Given the description of an element on the screen output the (x, y) to click on. 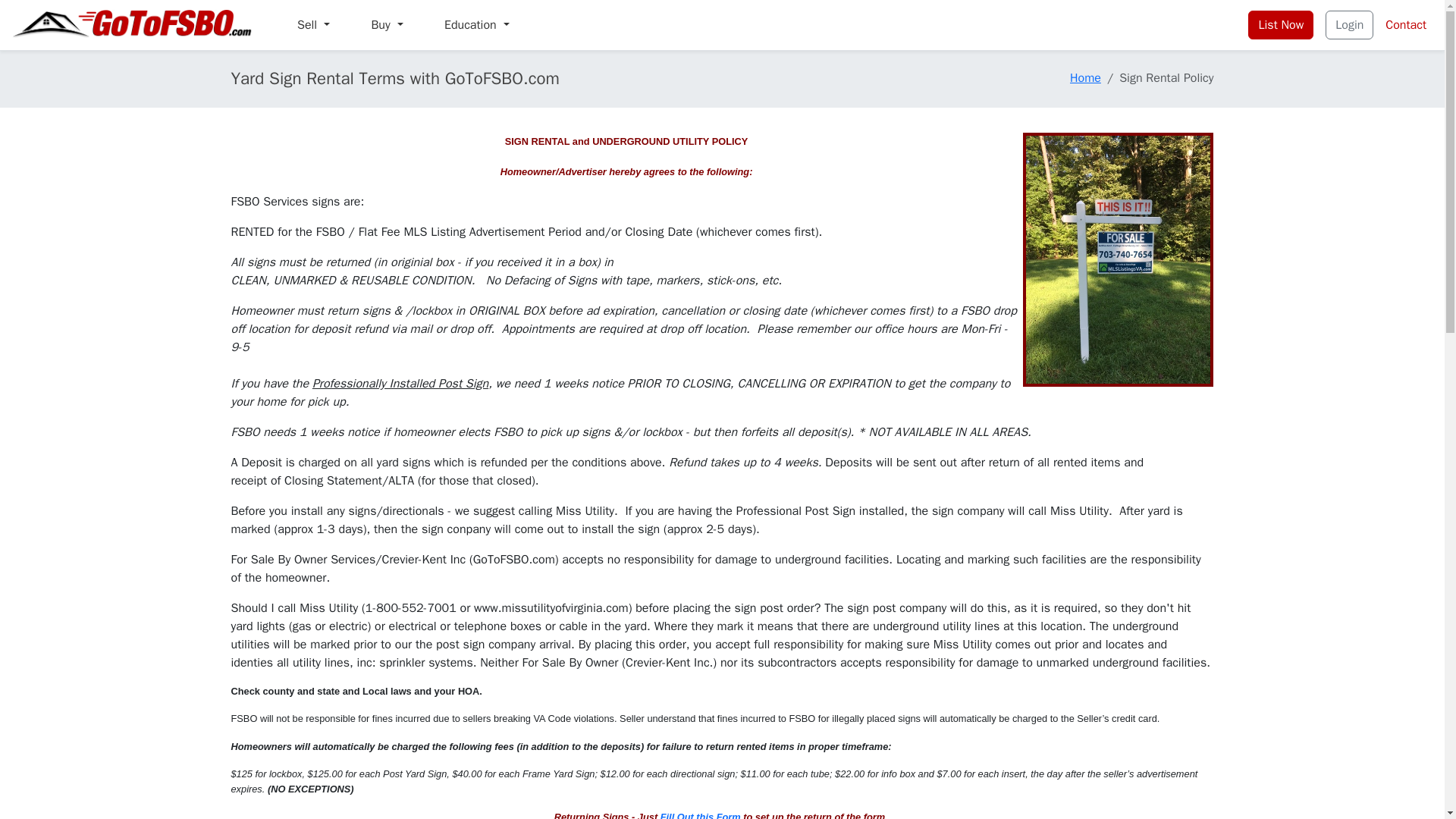
Buy  (387, 24)
Education  (476, 24)
Sell  (313, 24)
Home (1085, 77)
List Now (1280, 24)
Contact (1405, 24)
Login (1348, 24)
Fill Out this Form (701, 815)
